Given the description of an element on the screen output the (x, y) to click on. 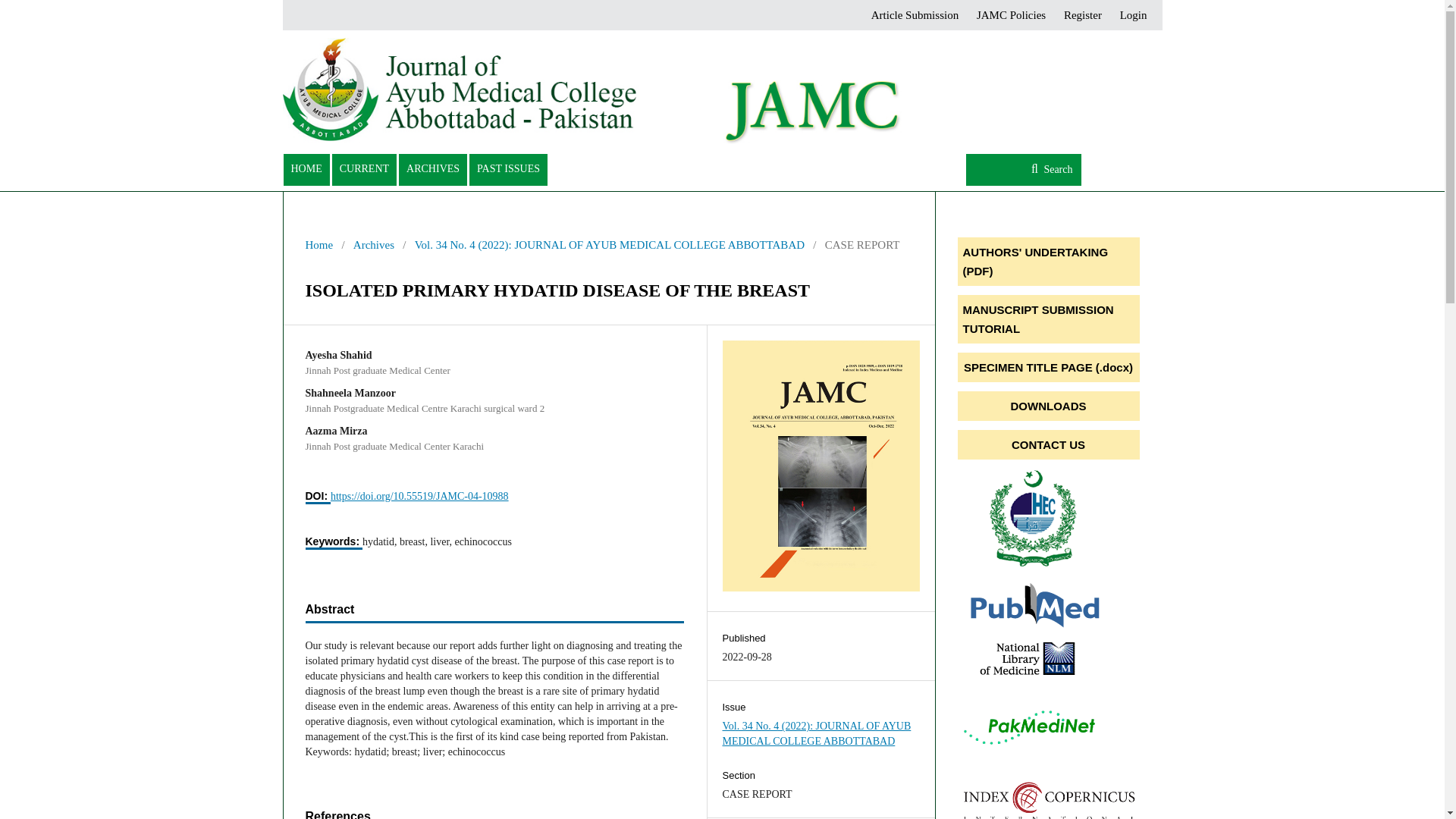
HOME (307, 169)
Register (1083, 15)
PAST ISSUES (508, 169)
DOWNLOADS (1047, 405)
MANUSCRIPT SUBMISSION TUTORIAL (1047, 318)
CONTACT US (1047, 444)
Article Submission (914, 15)
CURRENT (363, 169)
Login (1129, 15)
ARCHIVES (432, 169)
JAMC Policies (1010, 15)
